Given the description of an element on the screen output the (x, y) to click on. 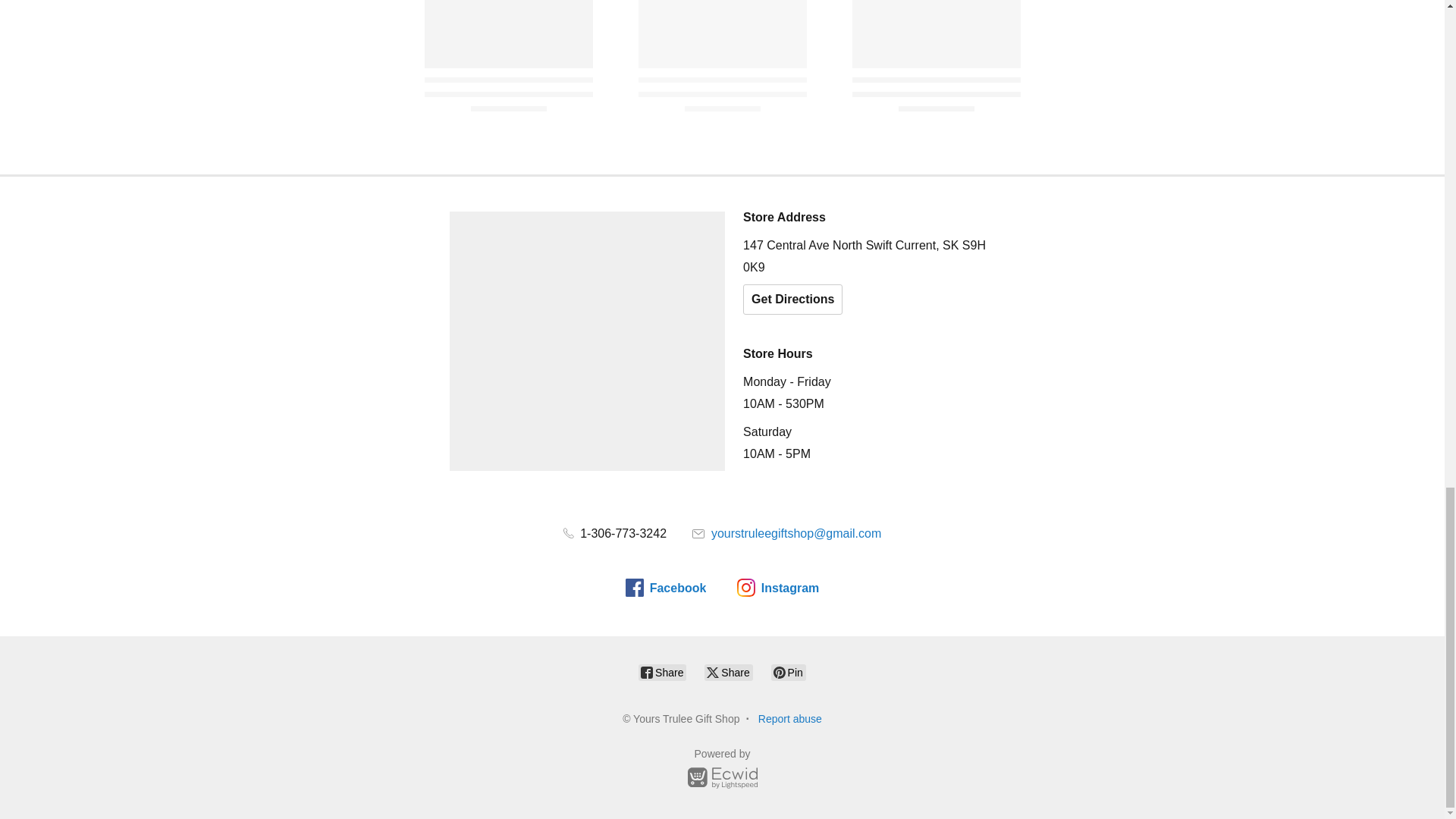
Facebook (666, 587)
Report abuse (790, 718)
Location on map (586, 340)
Share (662, 672)
Get Directions (792, 299)
Share (728, 672)
1-306-773-3242 (614, 533)
Powered by (722, 770)
Instagram (777, 587)
Pin (788, 672)
